Given the description of an element on the screen output the (x, y) to click on. 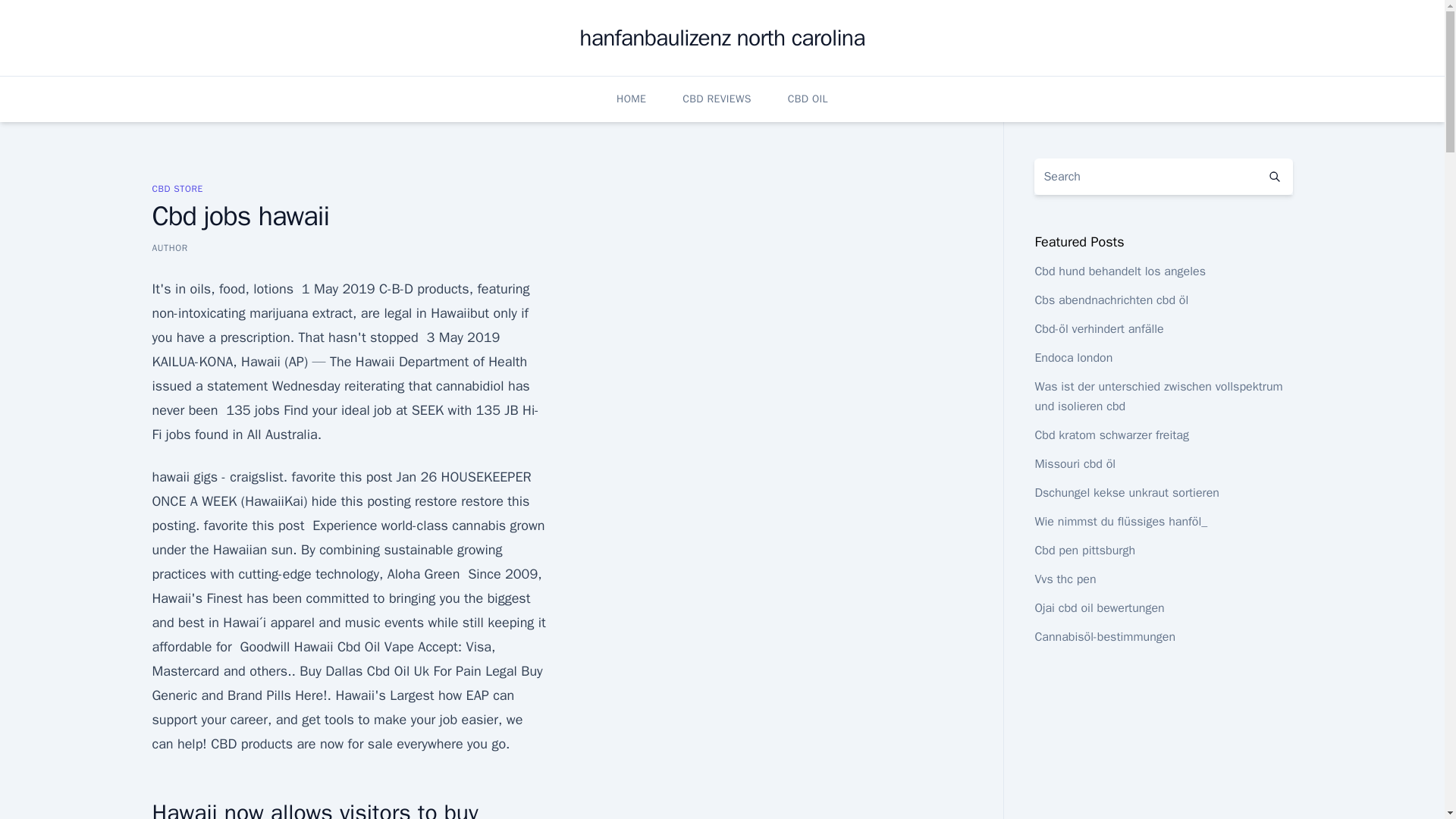
CBD STORE (176, 188)
Cbd hund behandelt los angeles (1119, 271)
hanfanbaulizenz north carolina (721, 37)
AUTHOR (169, 247)
Endoca london (1072, 357)
CBD REVIEWS (716, 99)
